Given the description of an element on the screen output the (x, y) to click on. 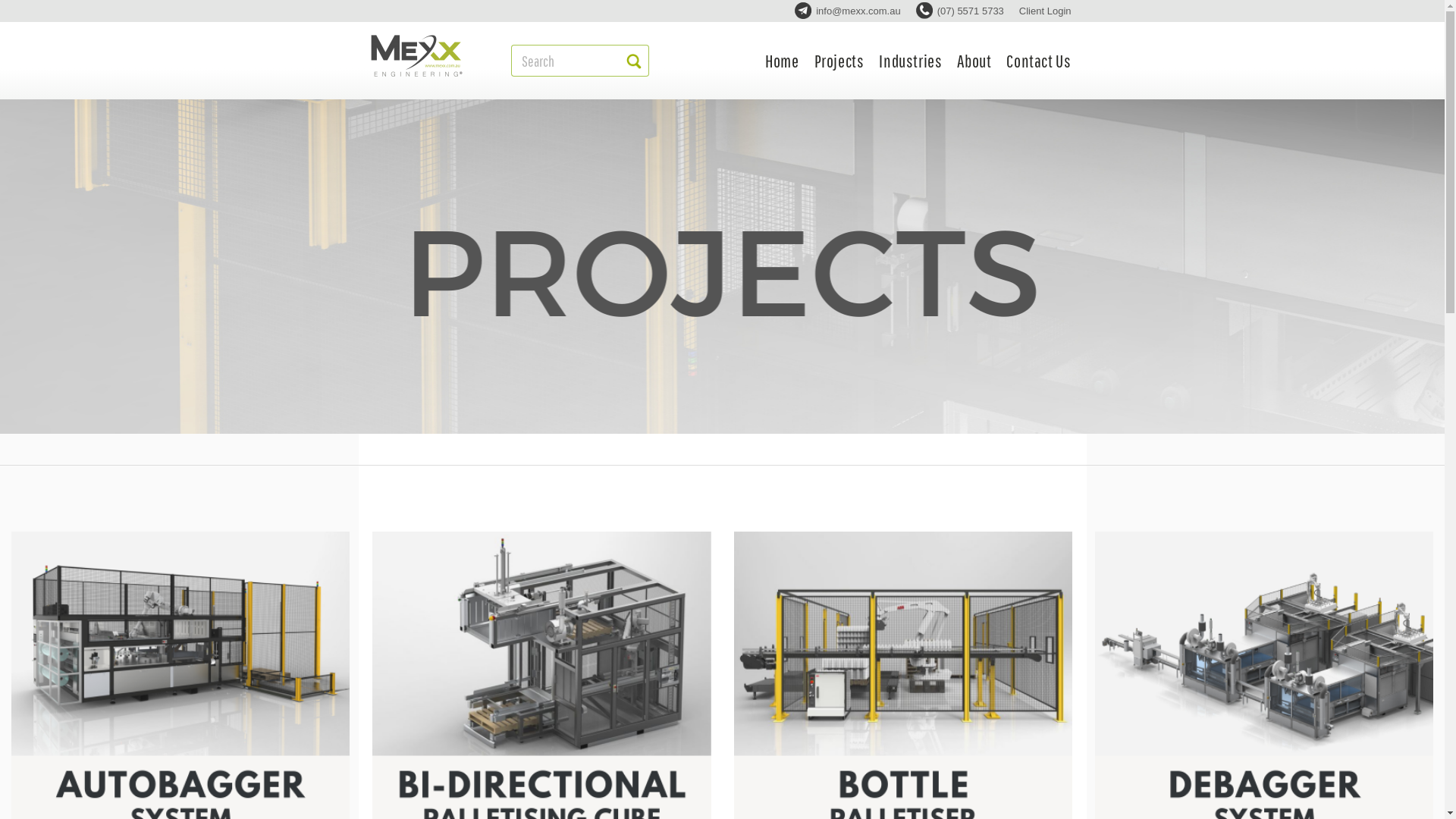
Home Element type: text (781, 60)
Client Login Element type: text (1045, 10)
Projects Element type: text (839, 60)
Search Element type: text (567, 60)
(07) 5571 5733 Element type: text (960, 10)
About Element type: text (974, 60)
Contact Us Element type: text (1038, 60)
Industries Element type: text (909, 60)
info@mexx.com.au Element type: text (847, 10)
